Given the description of an element on the screen output the (x, y) to click on. 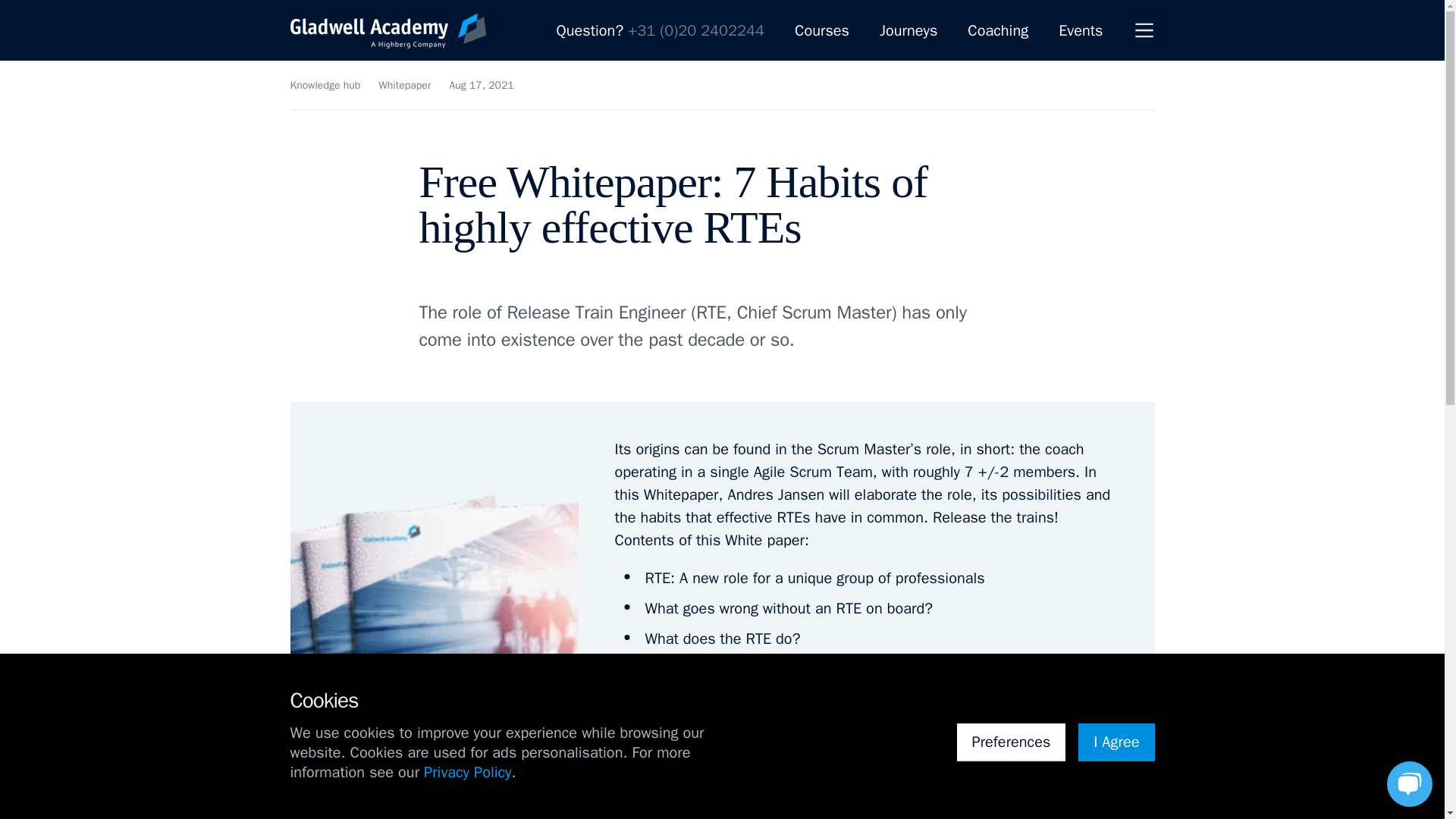
Coaching (997, 29)
Preferences (1010, 742)
Events (1080, 29)
Journeys (908, 29)
Privacy Policy (467, 772)
Courses (821, 29)
I Agree (1116, 742)
